Given the description of an element on the screen output the (x, y) to click on. 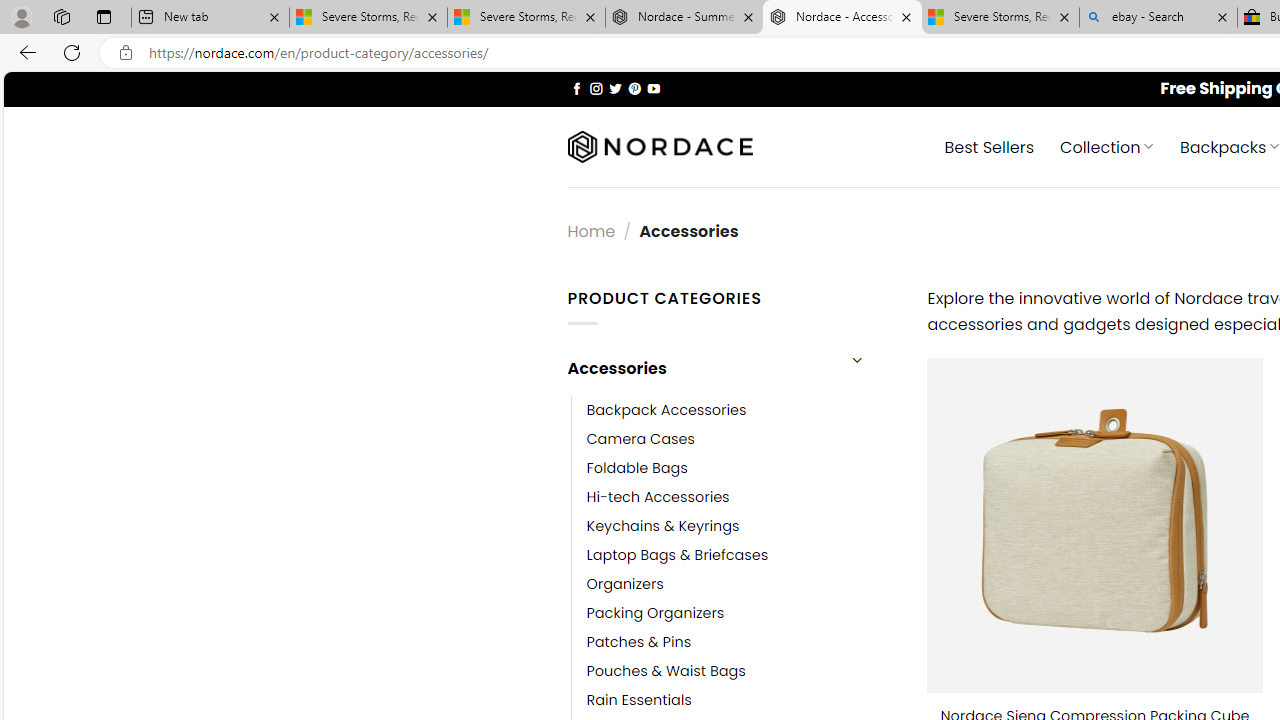
Camera Cases (640, 439)
Keychains & Keyrings (662, 526)
Follow on Twitter (615, 88)
Foldable Bags (742, 467)
Follow on Facebook (576, 88)
Nordace - Accessories (842, 17)
